Given the description of an element on the screen output the (x, y) to click on. 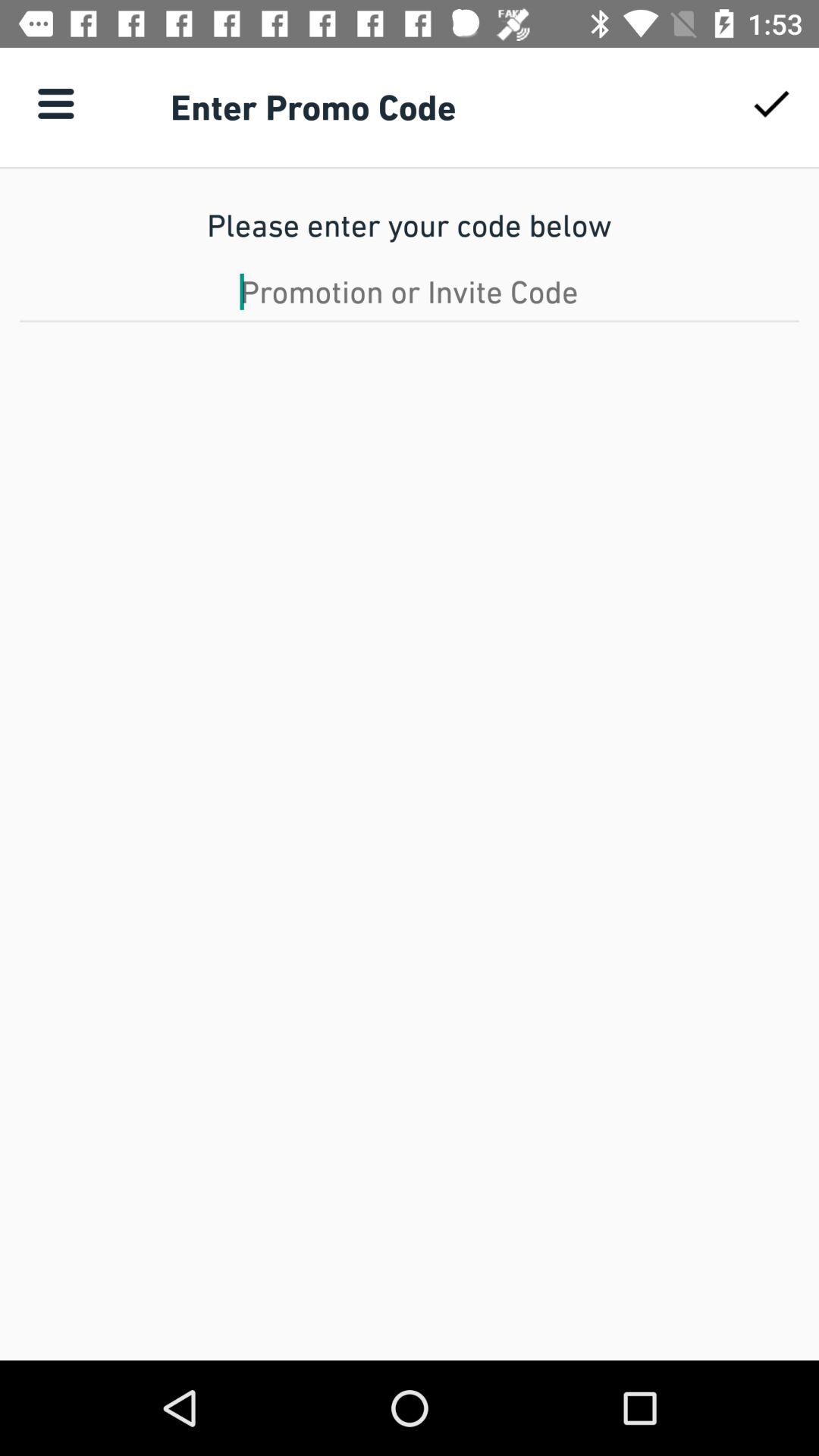
turn on item to the left of enter promo code item (55, 103)
